Given the description of an element on the screen output the (x, y) to click on. 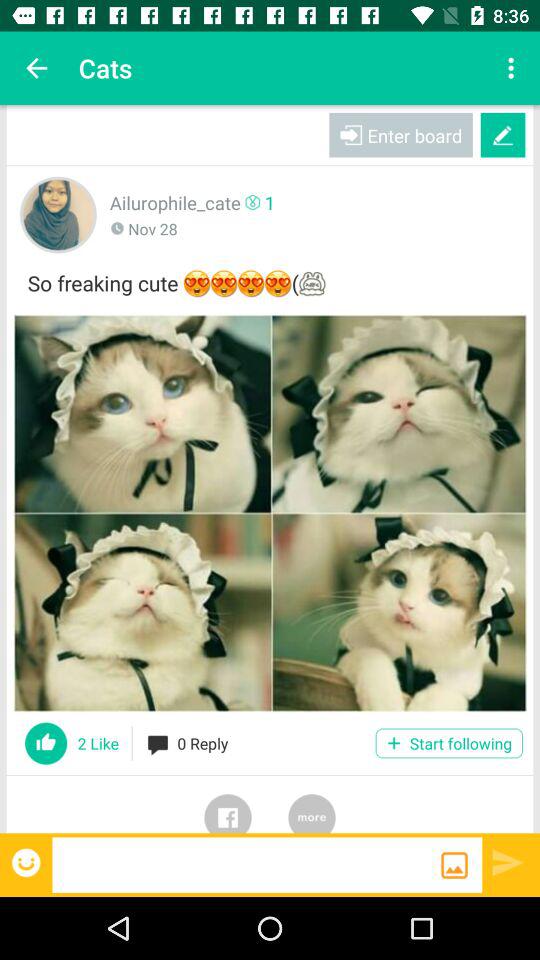
press app next to cats app (36, 68)
